Given the description of an element on the screen output the (x, y) to click on. 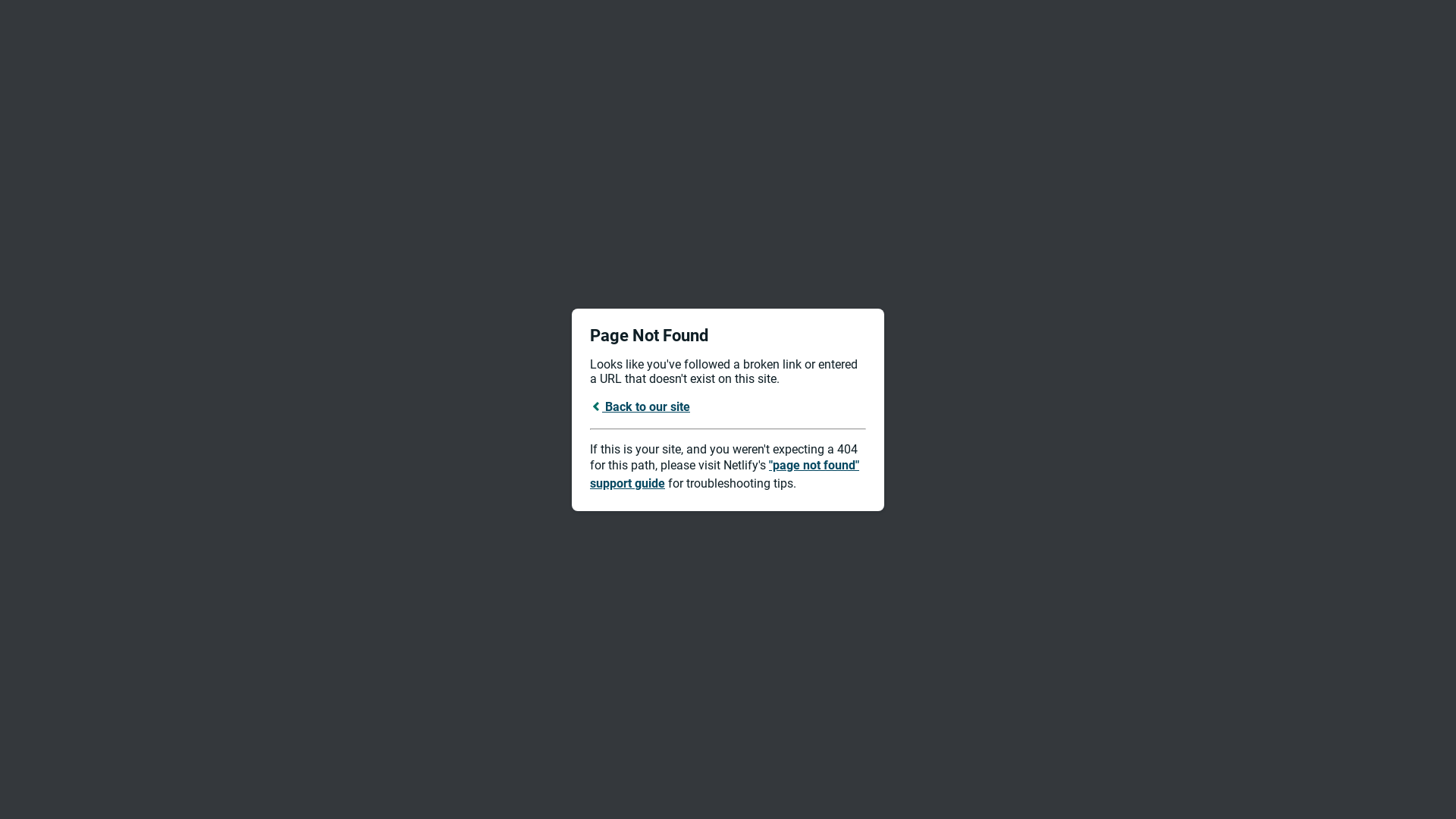
"page not found" support guide Element type: text (724, 474)
Back to our site Element type: text (639, 405)
